Given the description of an element on the screen output the (x, y) to click on. 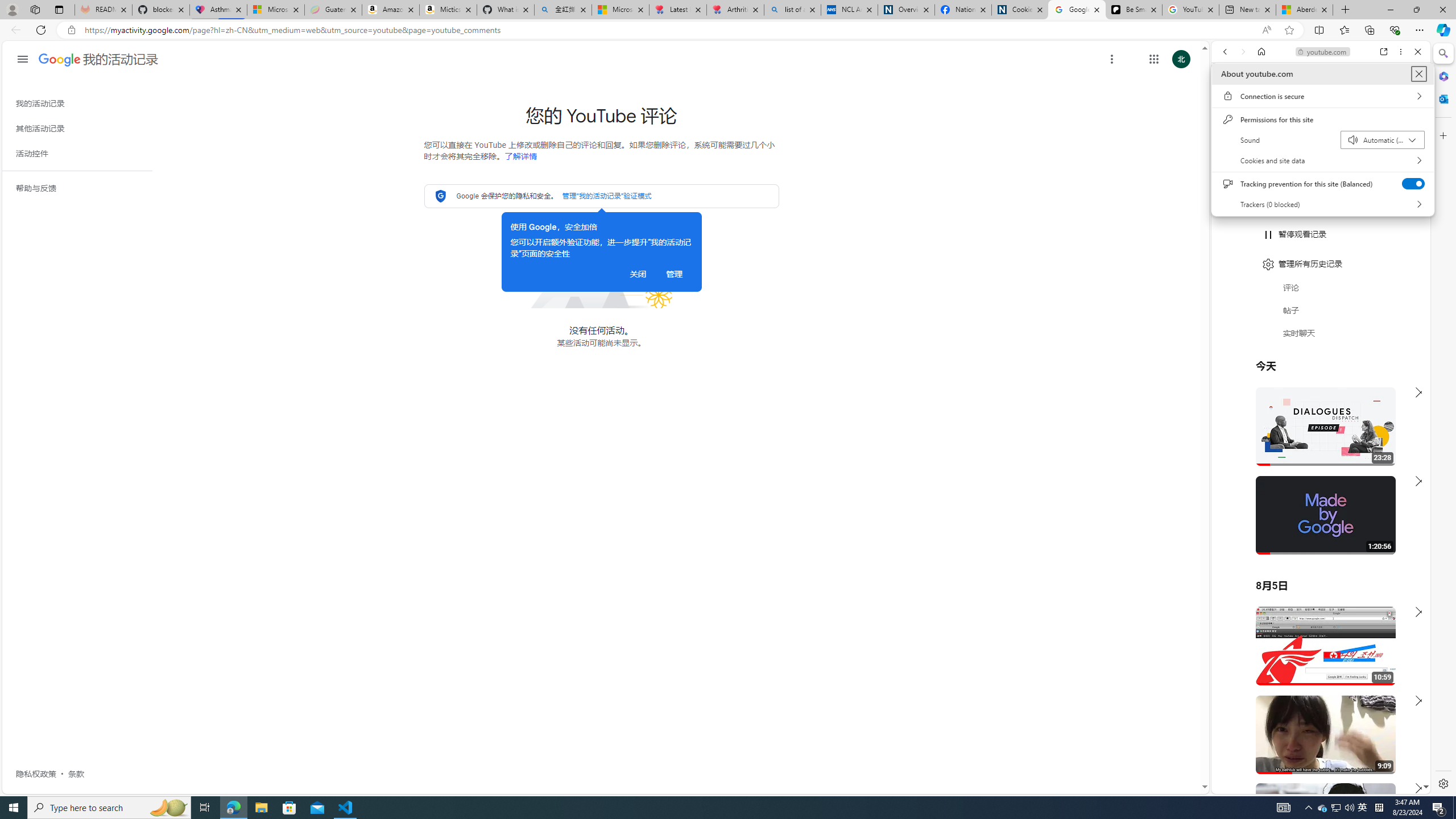
#you (1315, 659)
AutomationID: 4105 (1283, 807)
Google (1320, 281)
YouTube (1315, 655)
Running applications (700, 807)
Asthma Inhalers: Names and Types (217, 9)
